Given the description of an element on the screen output the (x, y) to click on. 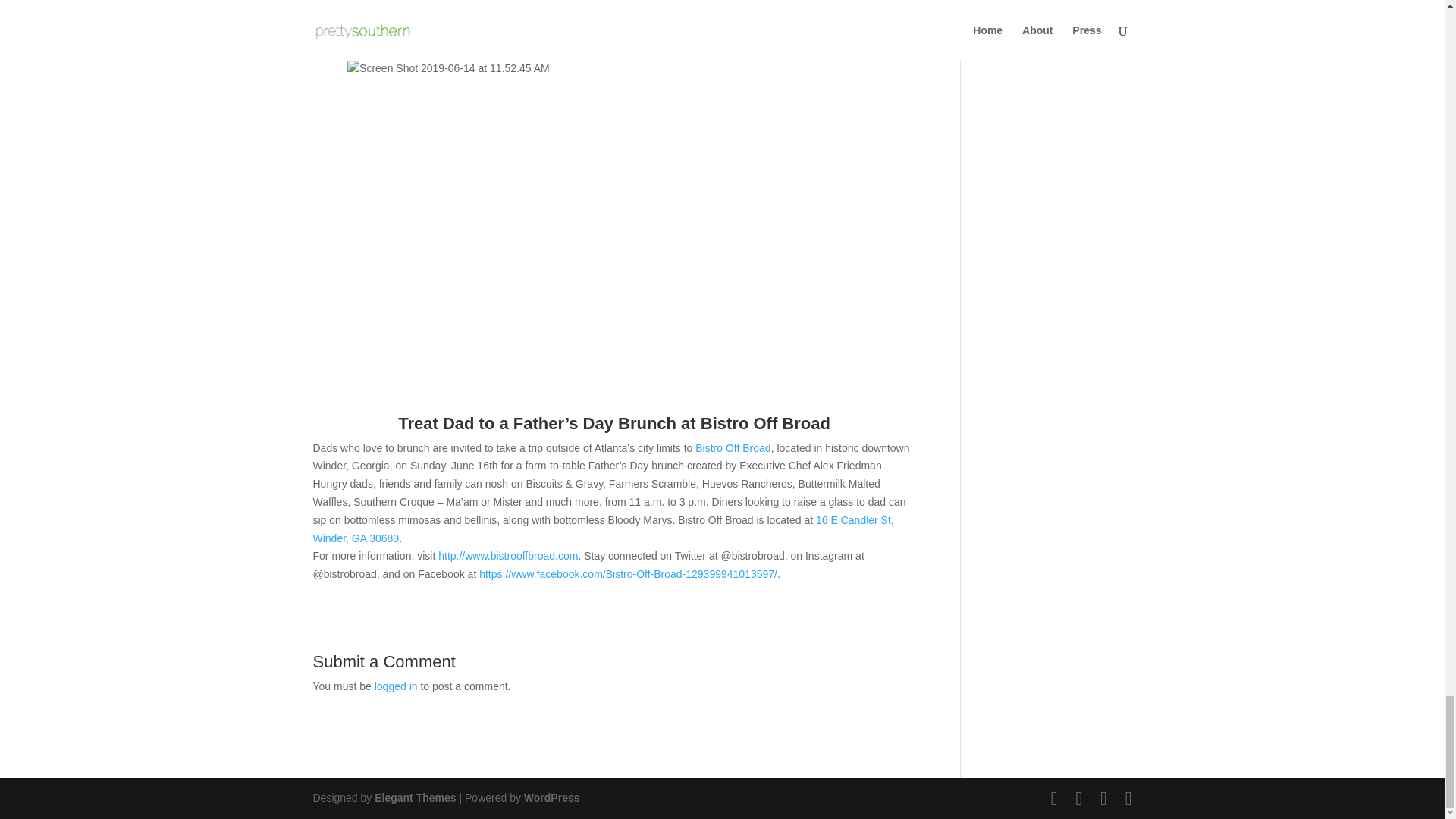
16 E Candler St, Winder, GA 30680 (603, 529)
Bistro Off Broad (732, 448)
www.parktavern.com (361, 50)
Premium WordPress Themes (414, 797)
logged in (395, 686)
Elegant Themes (414, 797)
WordPress (551, 797)
